Given the description of an element on the screen output the (x, y) to click on. 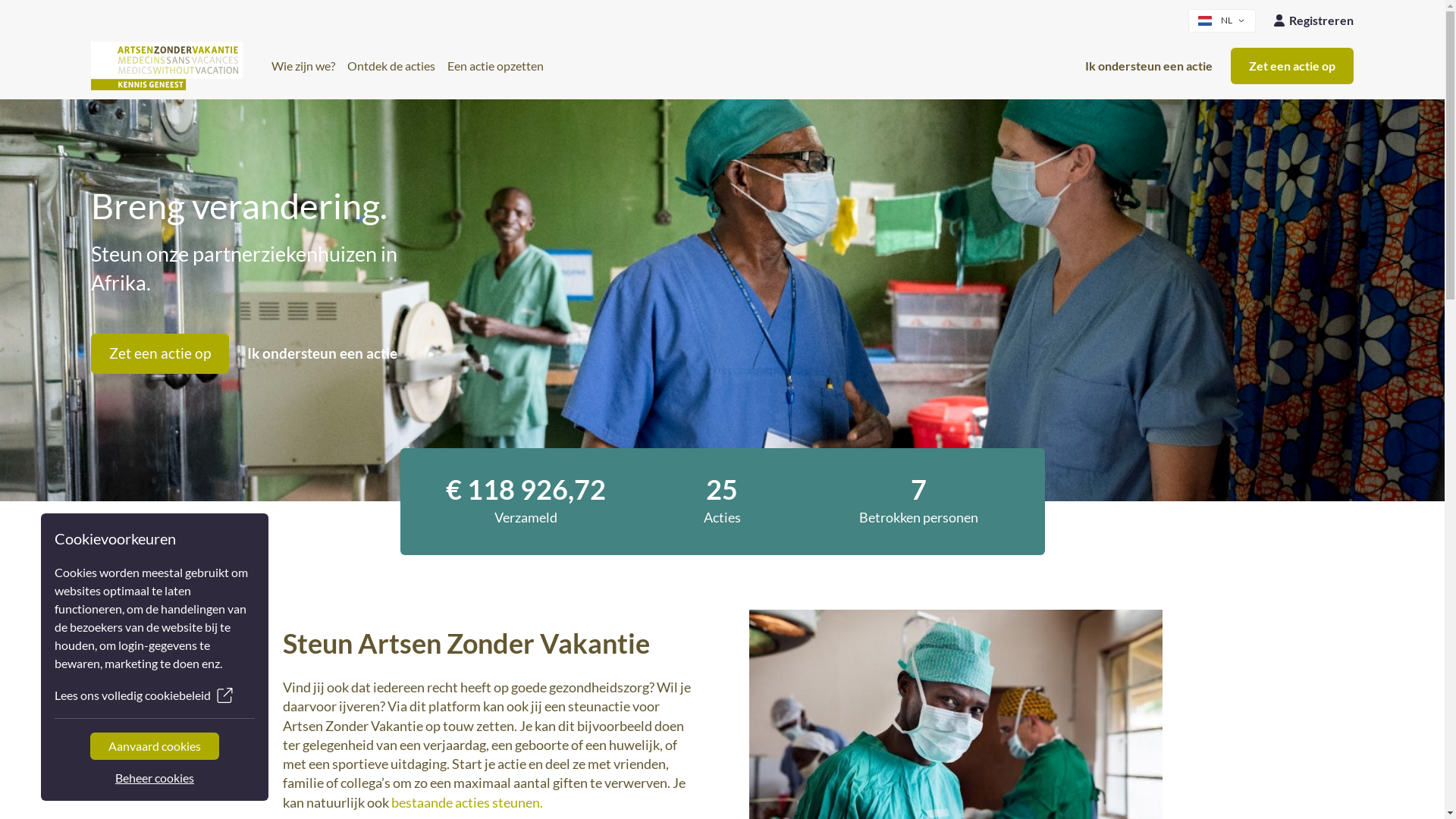
bestaande acties steunen. Element type: text (466, 801)
Aanvaard cookies Element type: text (154, 745)
Registreren Element type: text (1313, 20)
Ik ondersteun een actie Element type: text (1148, 65)
Een actie opzetten Element type: text (495, 65)
Ik ondersteun een actie Element type: text (322, 353)
Lees ons volledig cookiebeleid Element type: text (154, 695)
Zet een actie op Element type: text (1291, 65)
Wie zijn we? Element type: text (303, 65)
Ontdek de acties Element type: text (391, 65)
Beheer cookies Element type: text (154, 777)
Zet een actie op Element type: text (160, 353)
